Given the description of an element on the screen output the (x, y) to click on. 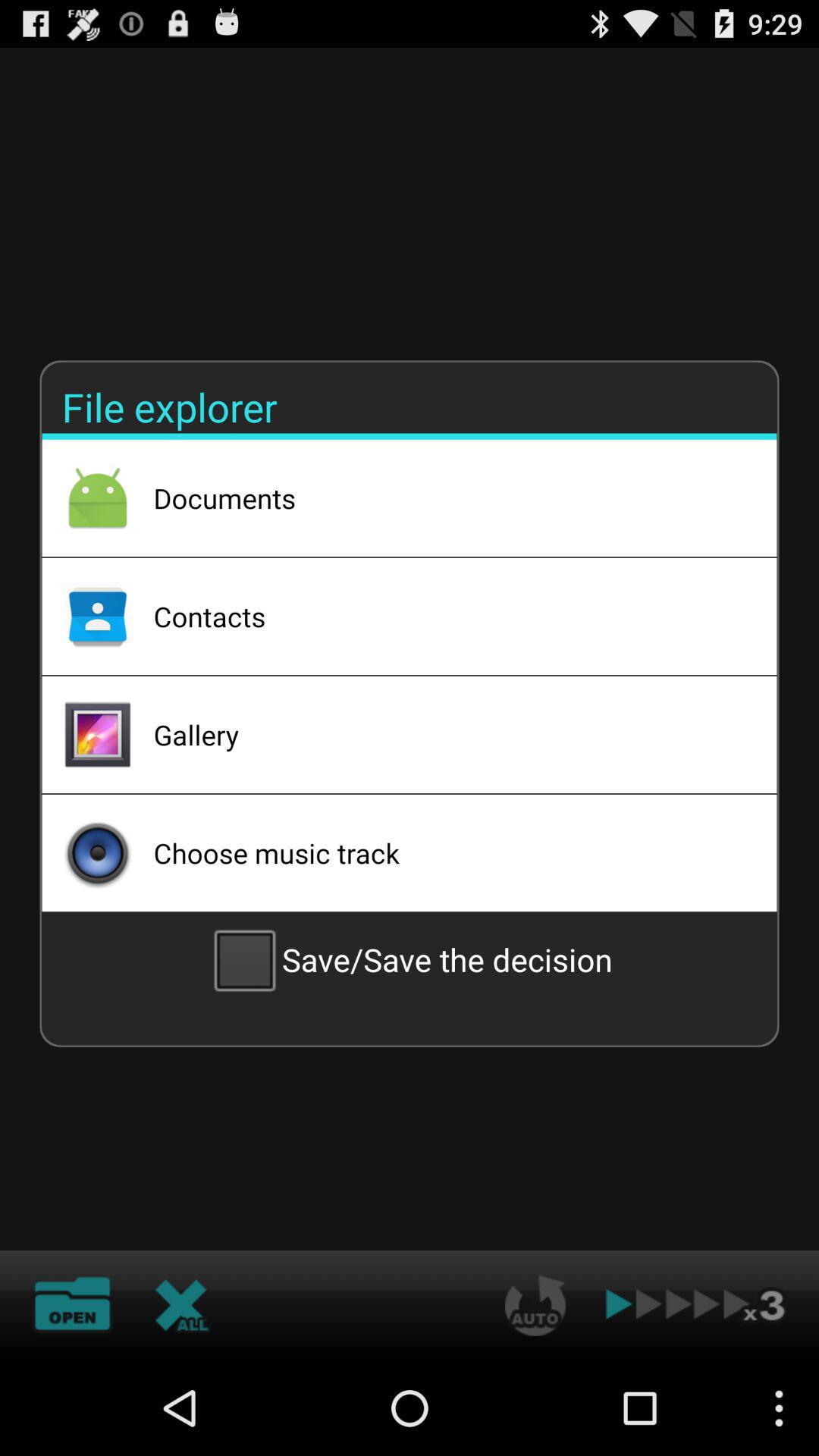
choose item above the gallery app (445, 616)
